Given the description of an element on the screen output the (x, y) to click on. 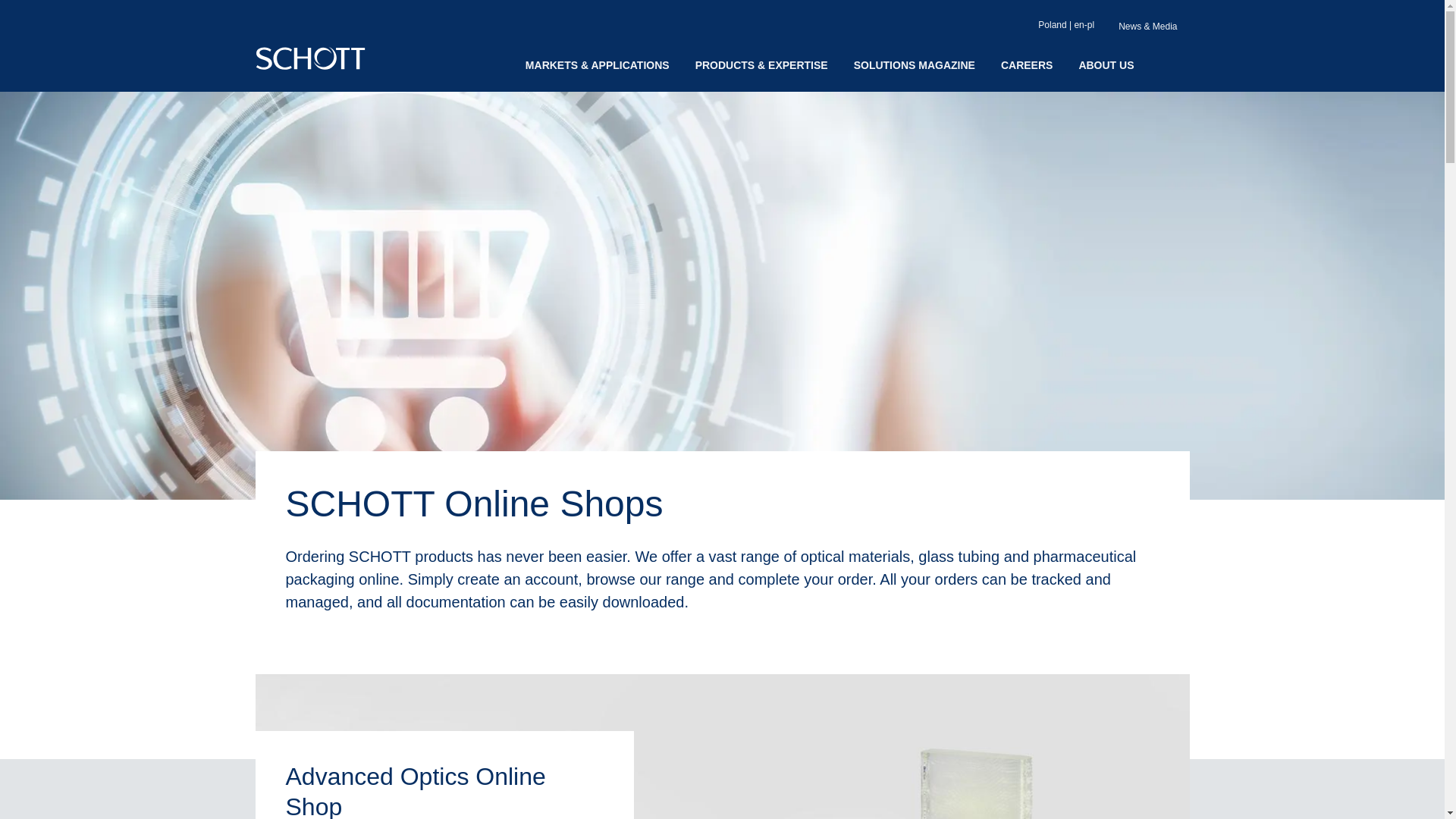
ABOUT US (1106, 65)
CAREERS (1026, 65)
SOLUTIONS MAGAZINE (914, 65)
